Given the description of an element on the screen output the (x, y) to click on. 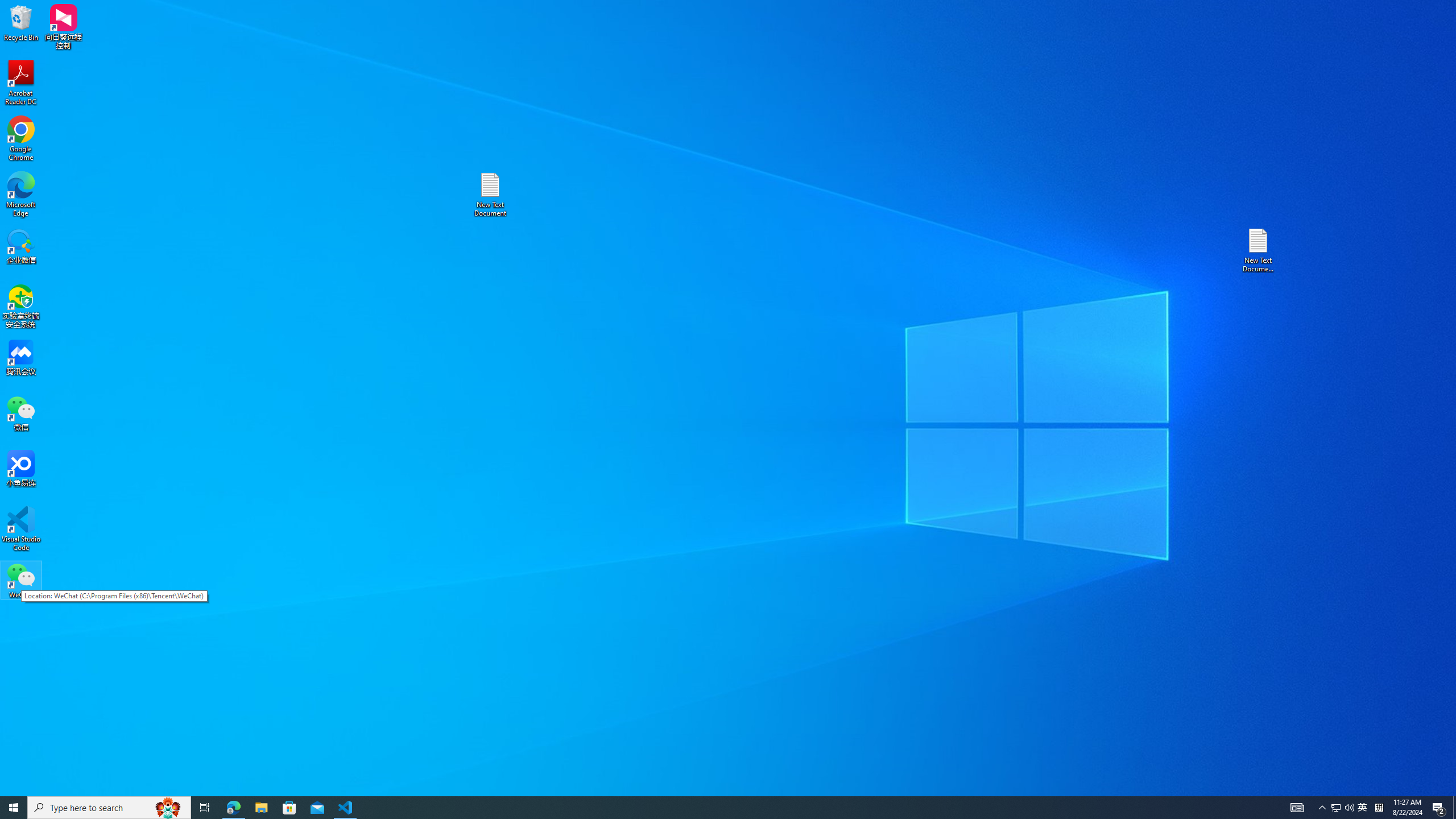
Show desktop (1454, 807)
Microsoft Edge - 1 running window (233, 807)
